Given the description of an element on the screen output the (x, y) to click on. 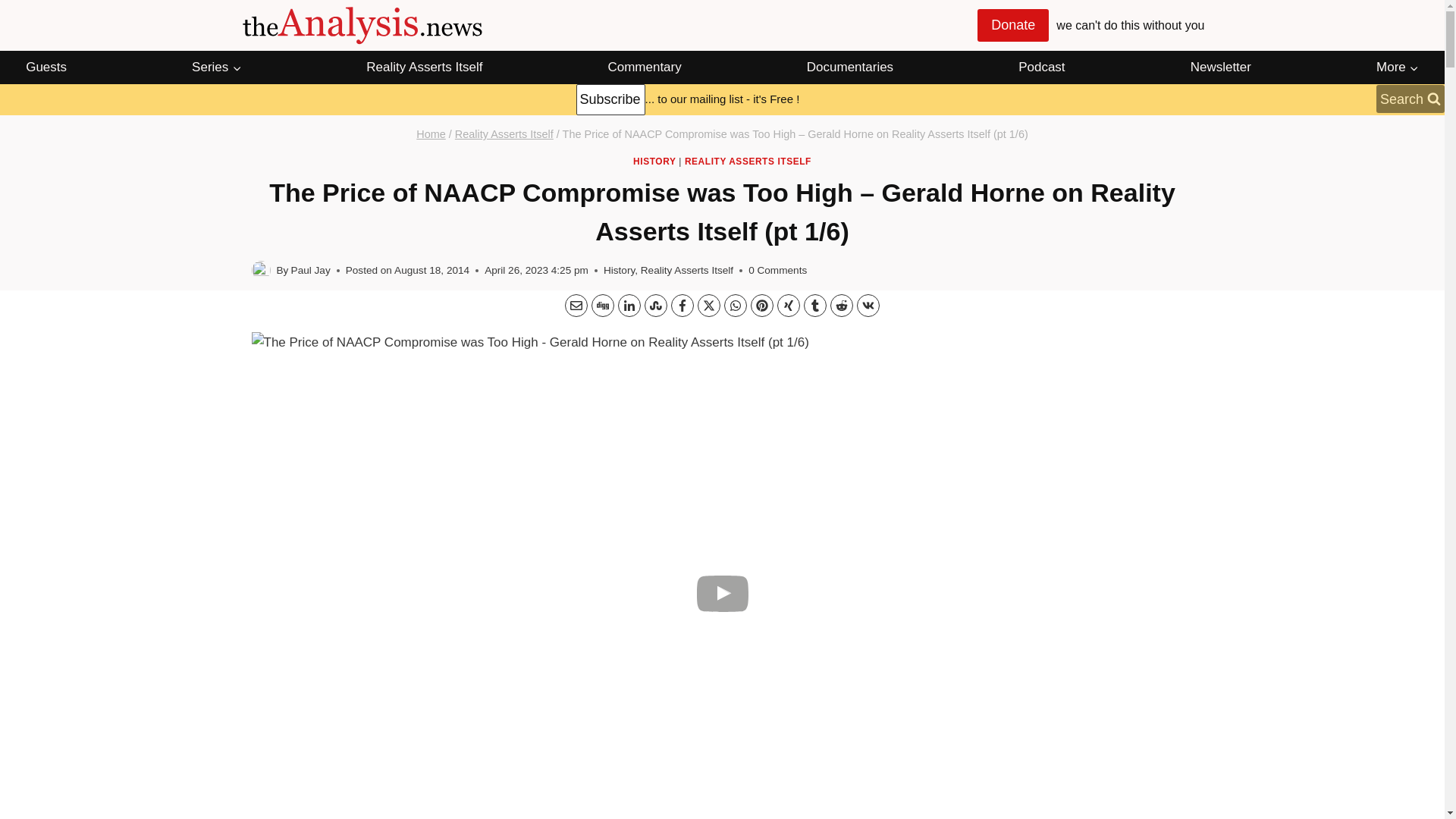
Newsletter (1220, 67)
History (619, 270)
Documentaries (850, 67)
Series (216, 67)
0 Comments (777, 270)
Donate (1012, 25)
Paul Jay (310, 270)
Subscribe (610, 99)
Commentary (643, 67)
More (1397, 67)
Podcast (1041, 67)
Reality Asserts Itself (503, 133)
REALITY ASSERTS ITSELF (747, 161)
Reality Asserts Itself (686, 270)
Reality Asserts Itself (423, 67)
